Given the description of an element on the screen output the (x, y) to click on. 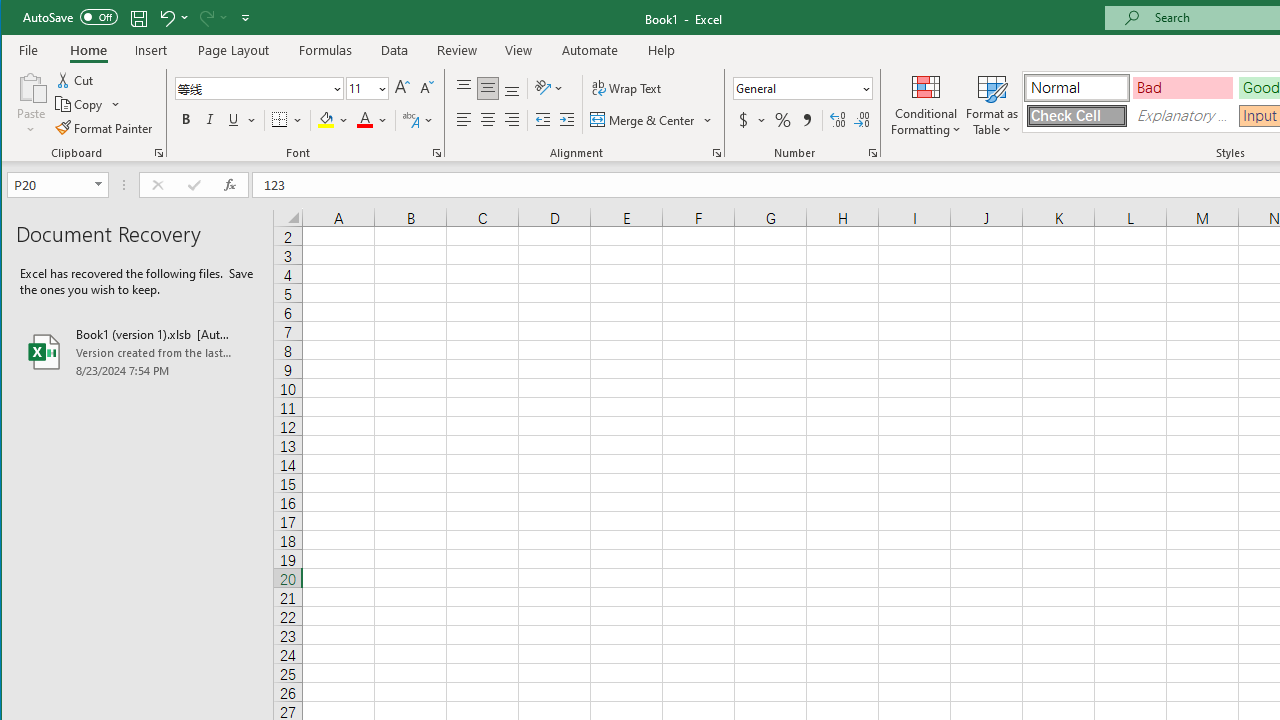
Increase Decimal (837, 119)
Fill Color (333, 119)
Show Phonetic Field (417, 119)
Increase Font Size (401, 88)
Bottom Border (279, 119)
Check Cell (1077, 116)
Font Color RGB(255, 0, 0) (365, 119)
Orientation (550, 88)
Borders (286, 119)
